Given the description of an element on the screen output the (x, y) to click on. 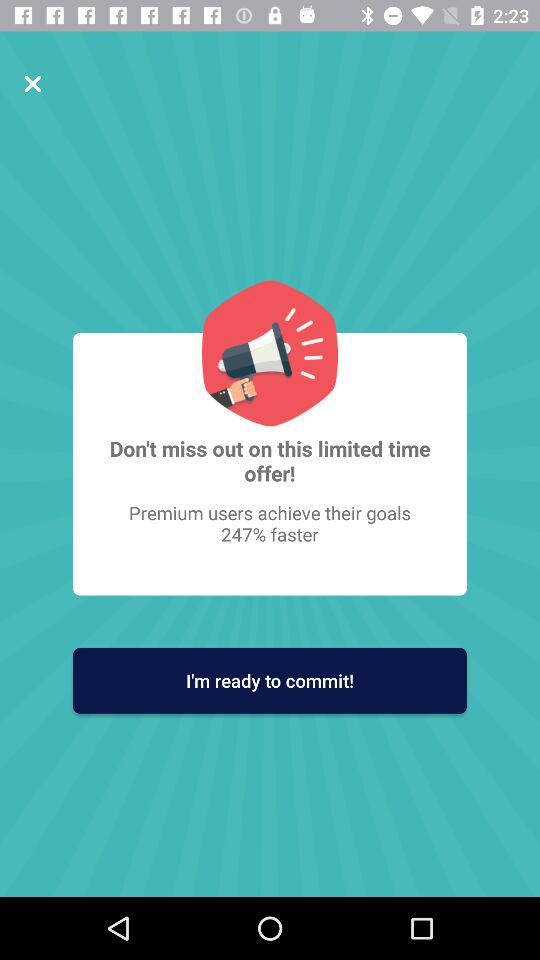
turn on icon below the premium users achieve (269, 680)
